Given the description of an element on the screen output the (x, y) to click on. 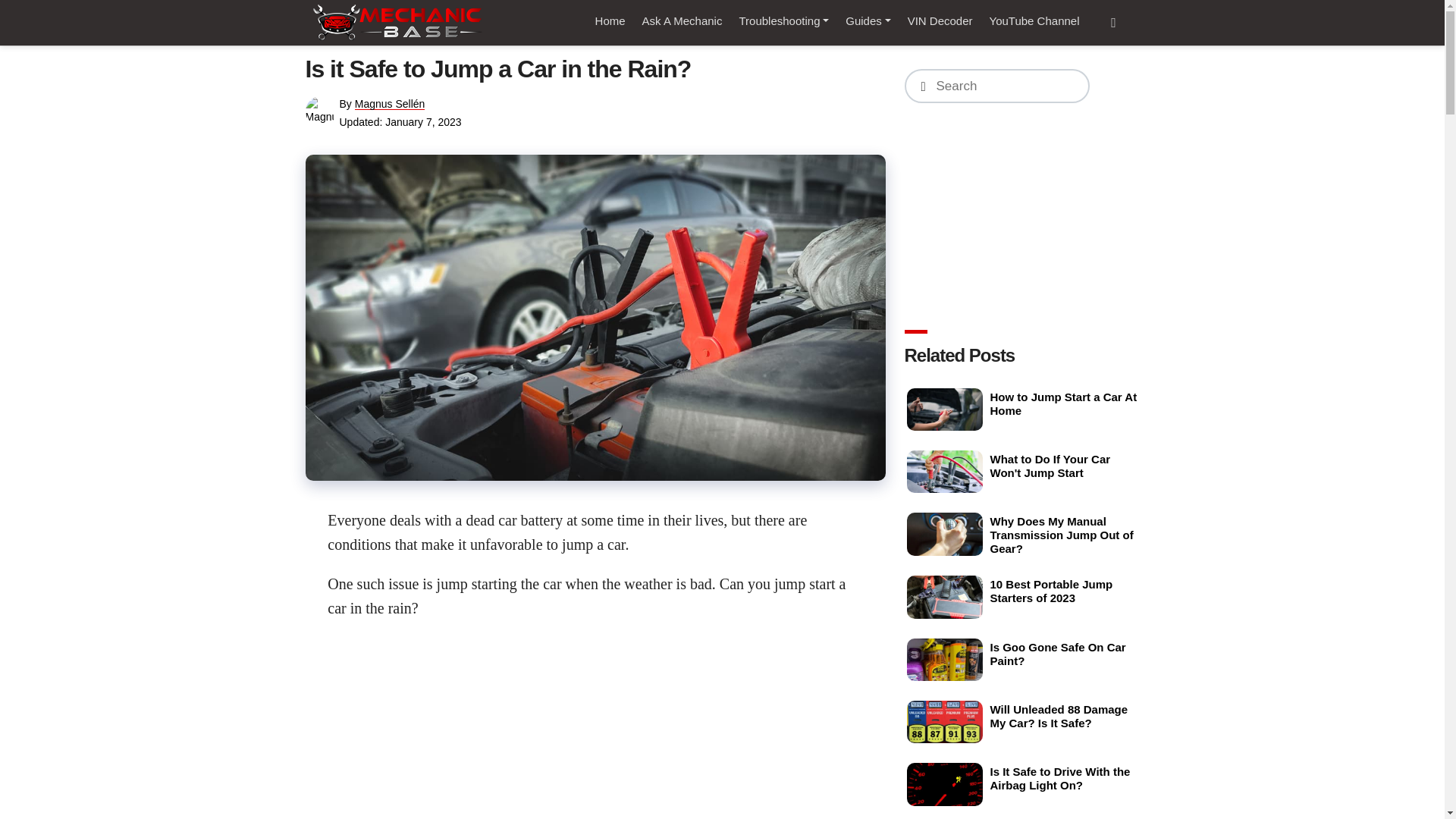
VIN Decoder (940, 20)
YouTube Channel (1034, 20)
YouTube Channel (1034, 20)
Is It Safe to Drive With the Airbag Light On? (944, 783)
Is Goo Gone Safe On Car Paint? (944, 659)
Ask A Mechanic (682, 20)
Will Unleaded 88 Damage My Car? Is It Safe? (944, 721)
Why Does My Manual Transmission Jump Out of Gear? (944, 533)
Home (609, 20)
How to Jump Start a Car At Home (944, 409)
